Given the description of an element on the screen output the (x, y) to click on. 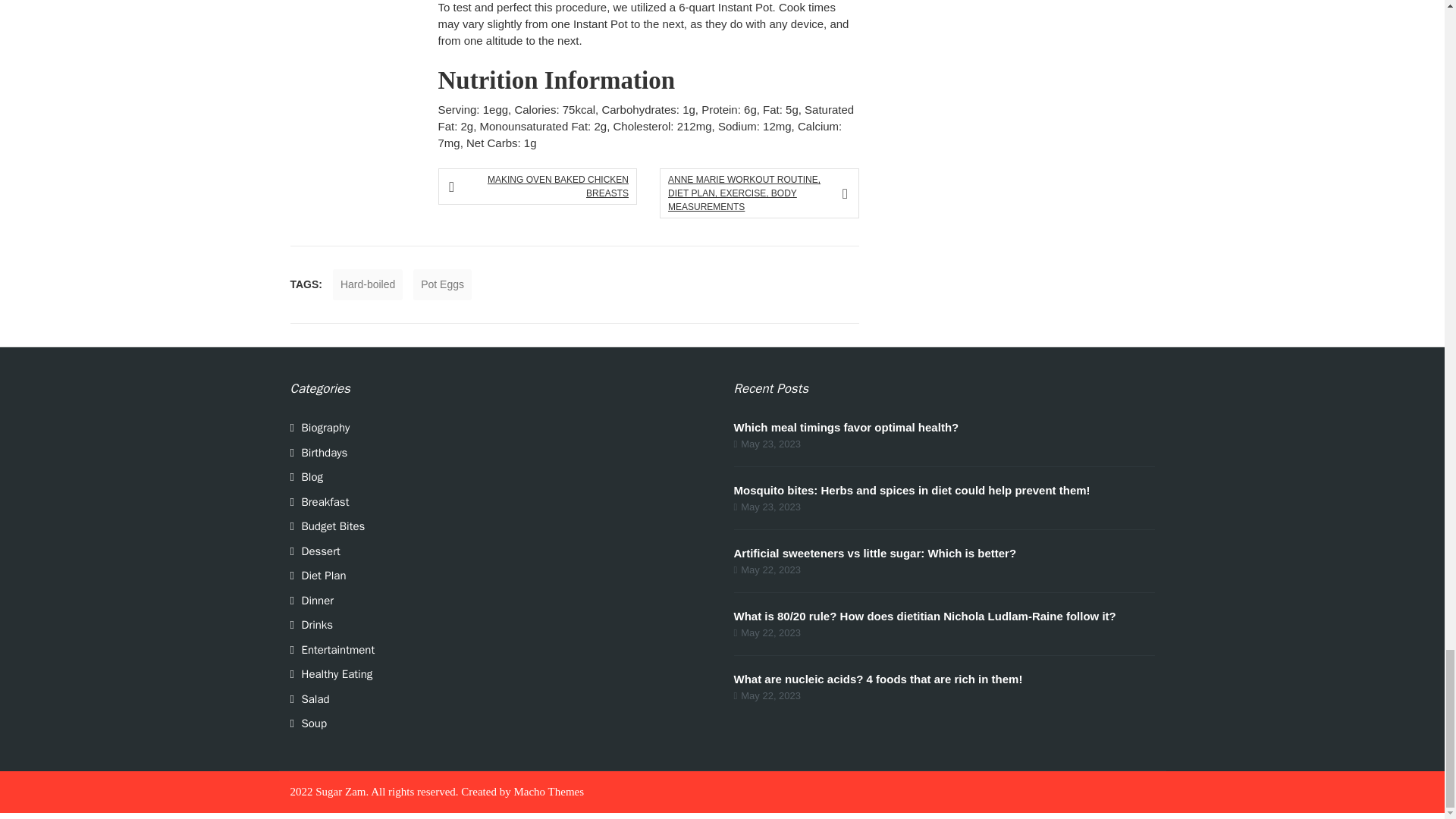
Pot Eggs (442, 284)
Hard-boiled (368, 284)
MAKING OVEN BAKED CHICKEN BREASTS (541, 185)
